Given the description of an element on the screen output the (x, y) to click on. 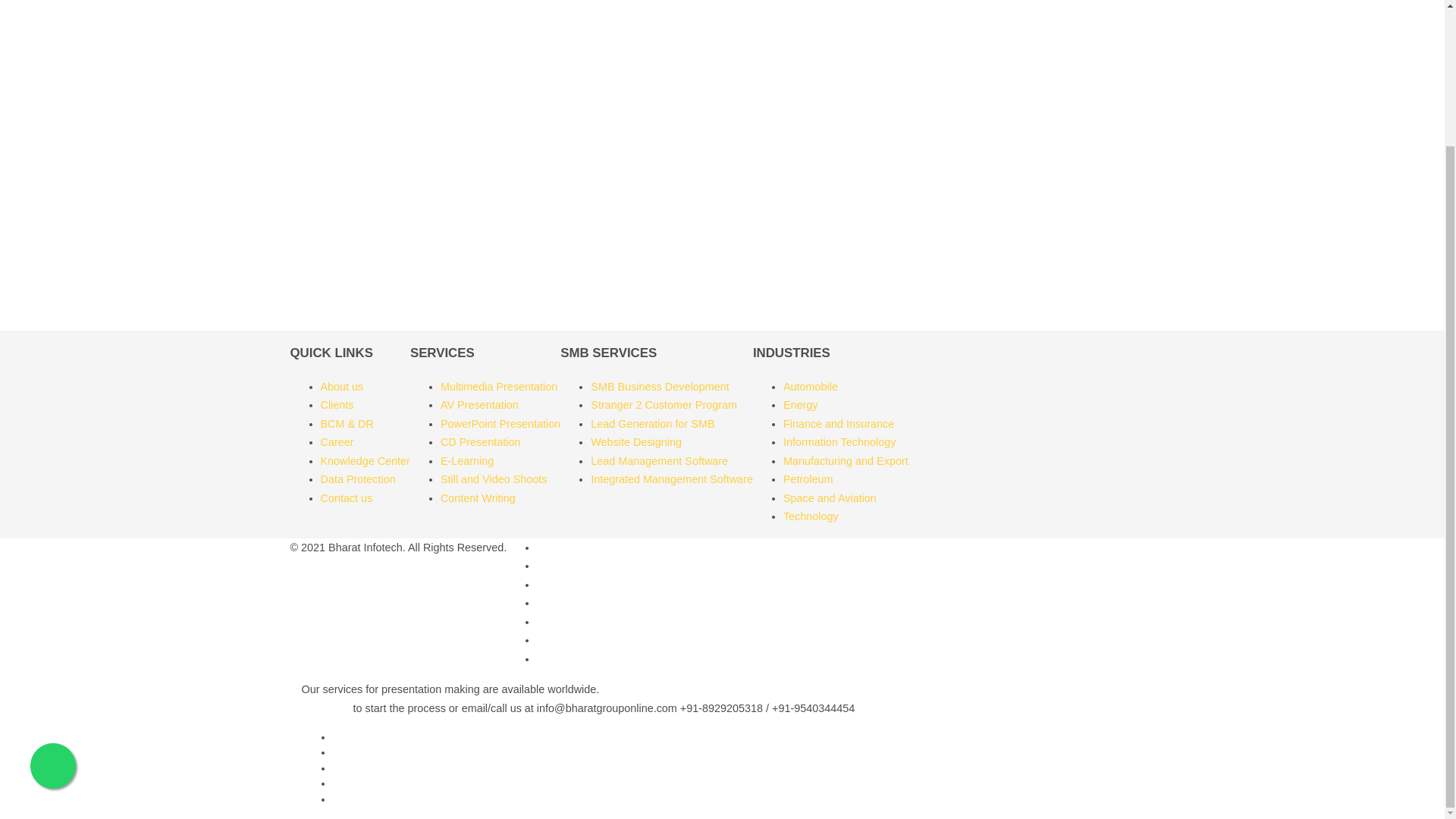
Multimedia Presentation (499, 386)
SMB Business Development (660, 386)
Stranger 2 Customer Program (663, 404)
Content Writing (478, 498)
Clients (336, 404)
Career (336, 441)
About us (341, 386)
CD Presentation (481, 441)
PowerPoint Presentation (500, 423)
Lead Management Software (659, 460)
